Given the description of an element on the screen output the (x, y) to click on. 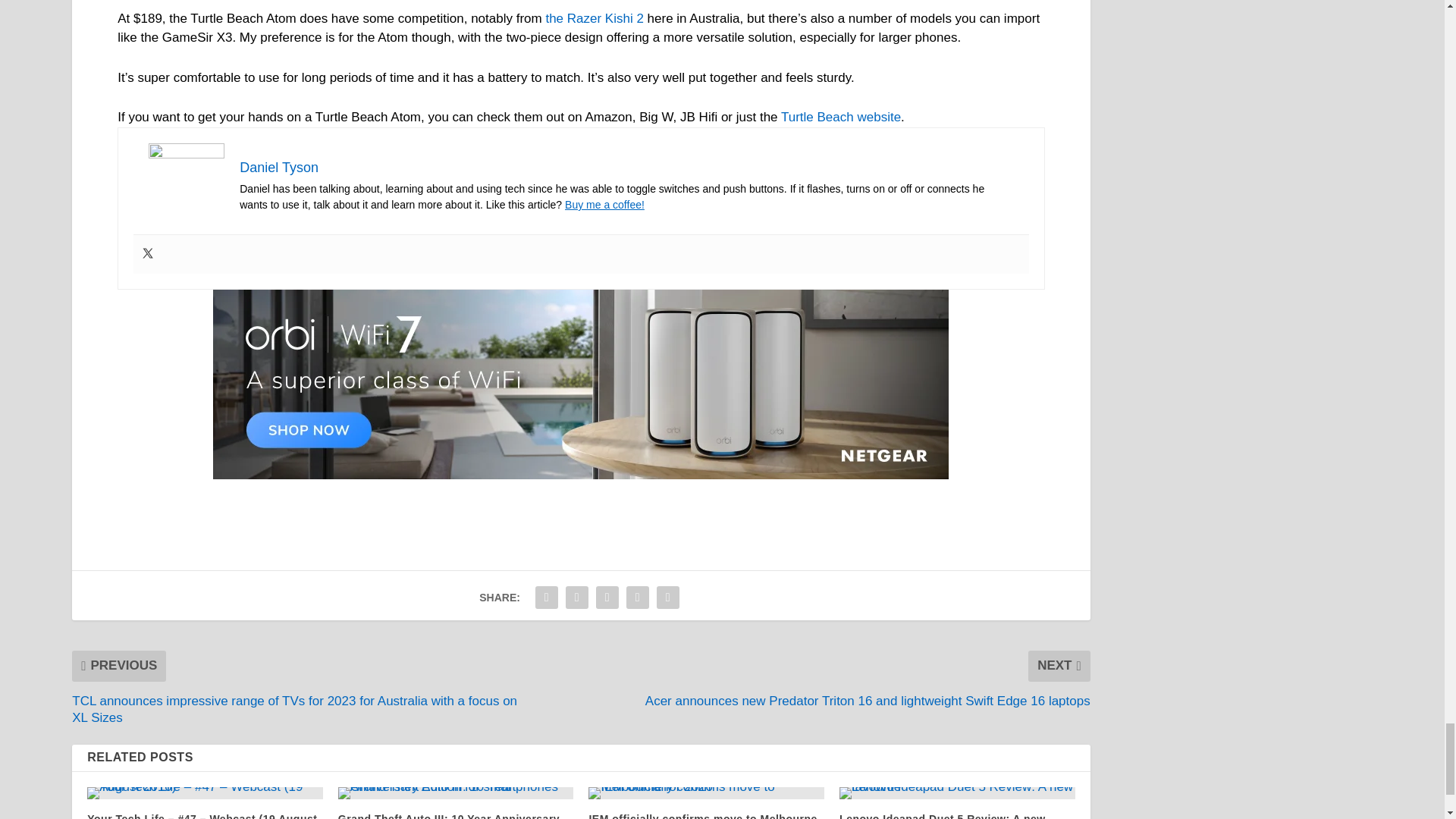
the Razer Kishi 2 (593, 18)
IEM officially confirms move to Melbourne for 2020 (706, 793)
Buy me a coffee! (604, 204)
Lenovo Ideapad Duet 5 Review: A new favourite (957, 793)
Turtle Beach website (840, 116)
Daniel Tyson (279, 167)
